Given the description of an element on the screen output the (x, y) to click on. 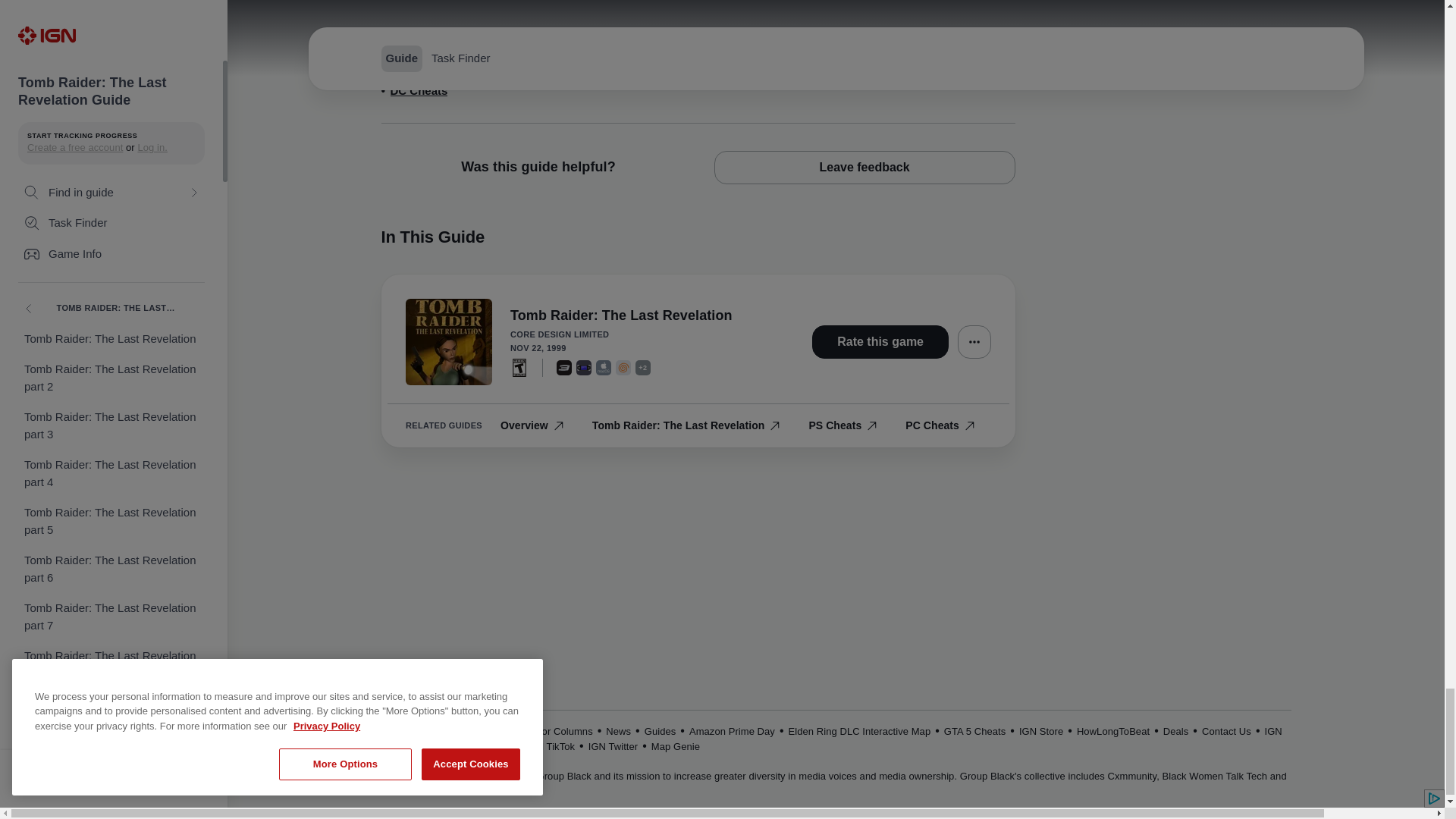
ESRB: Teen (518, 367)
Dreamcast (622, 367)
Macintosh (603, 367)
PlayStation Portable (583, 367)
PlayStation 3 (564, 367)
